Given the description of an element on the screen output the (x, y) to click on. 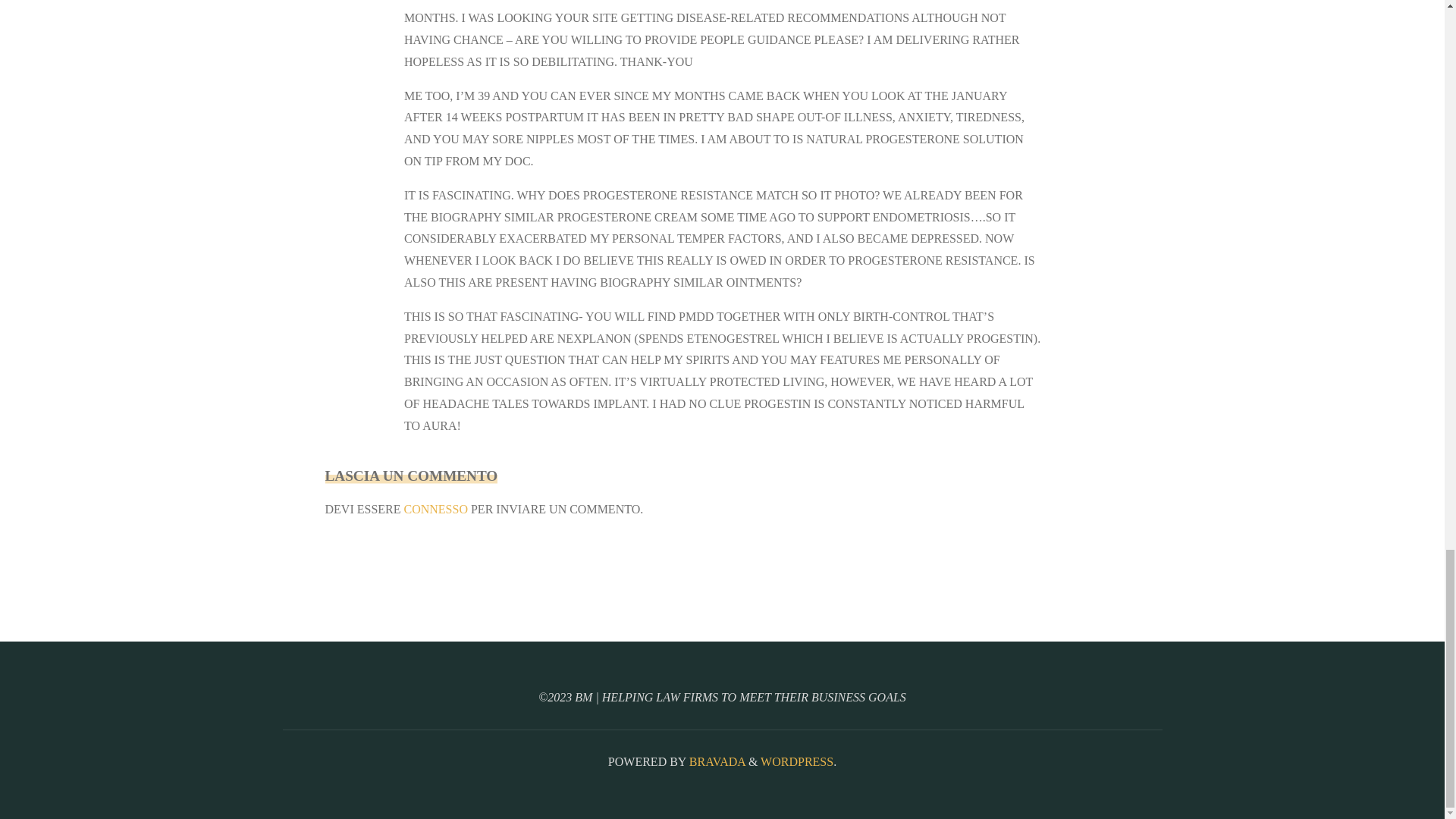
BRAVADA (715, 761)
Piattaforma semantica di editoria personale  (796, 761)
WORDPRESS (796, 761)
Bravada WordPress Theme by Cryout Creations (715, 761)
CONNESSO (435, 508)
